Given the description of an element on the screen output the (x, y) to click on. 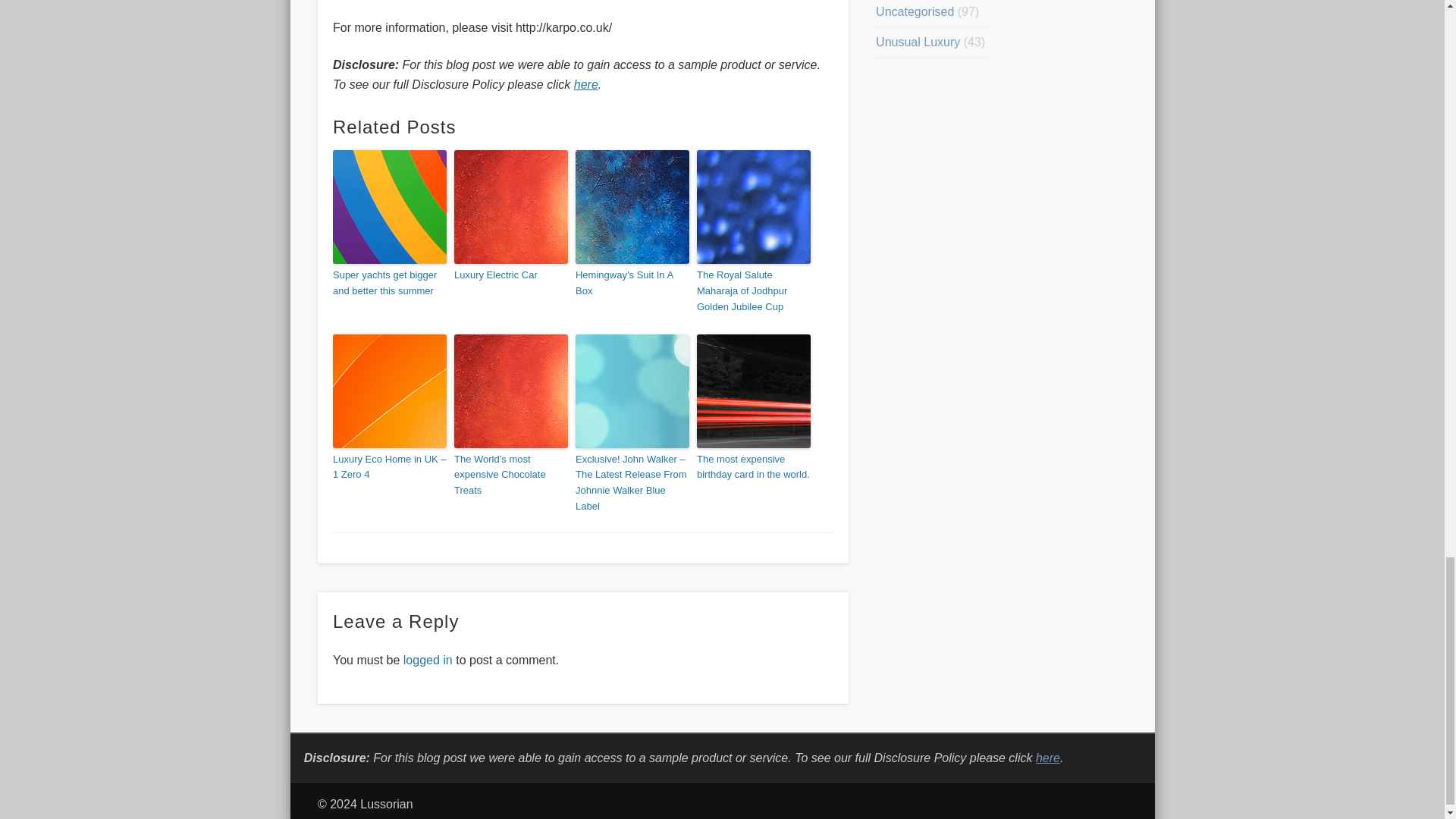
The most expensive birthday card in the world. (753, 468)
logged in (427, 659)
Luxury Electric Car (510, 275)
here (585, 83)
The Royal Salute Maharaja of Jodhpur Golden Jubilee Cup (753, 290)
Super yachts get bigger and better this summer (389, 283)
